Given the description of an element on the screen output the (x, y) to click on. 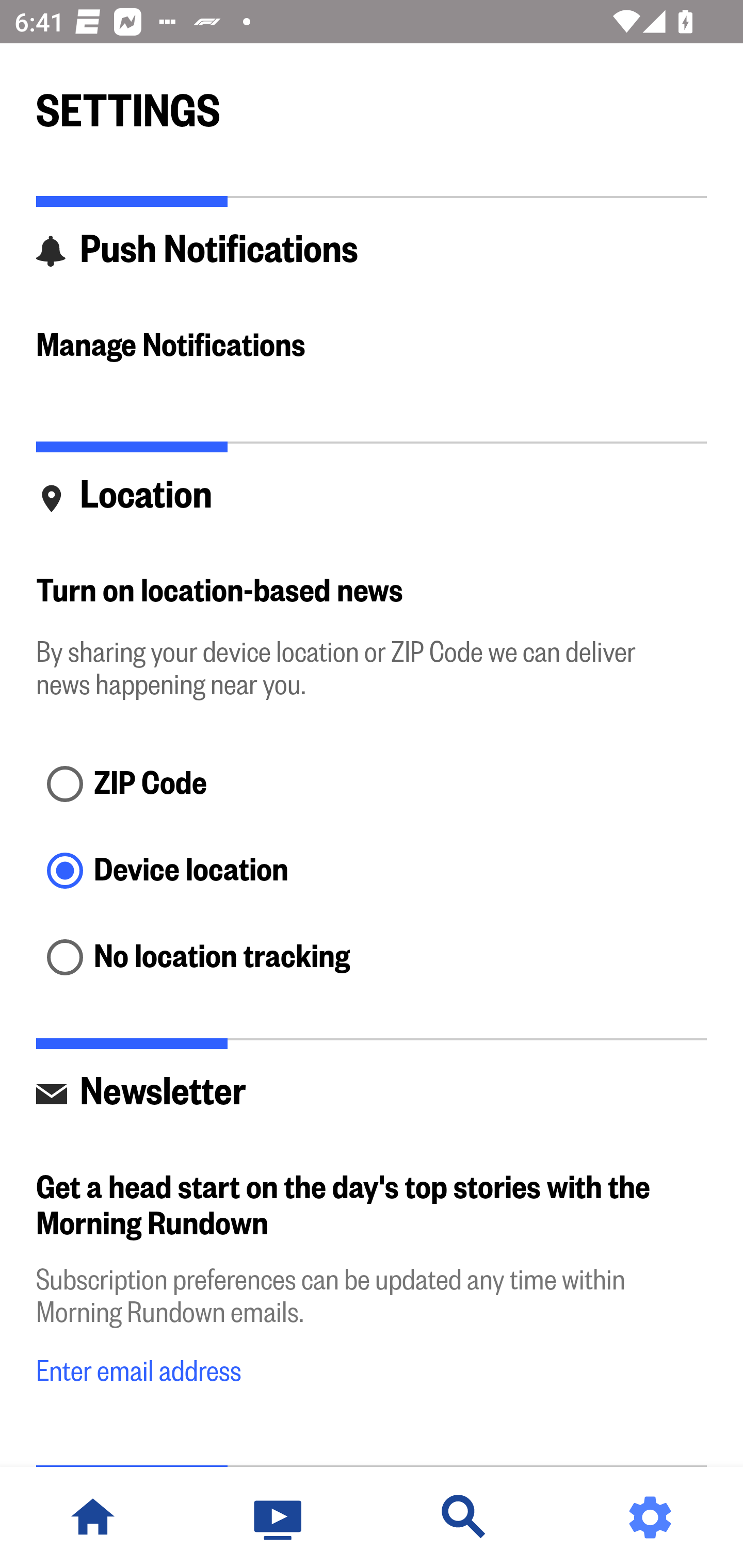
SETTINGS (371, 101)
Manage Notifications (371, 346)
ZIP Code (371, 785)
Device location (371, 872)
No location tracking (371, 958)
NBC News Home (92, 1517)
Watch (278, 1517)
Discover (464, 1517)
